Given the description of an element on the screen output the (x, y) to click on. 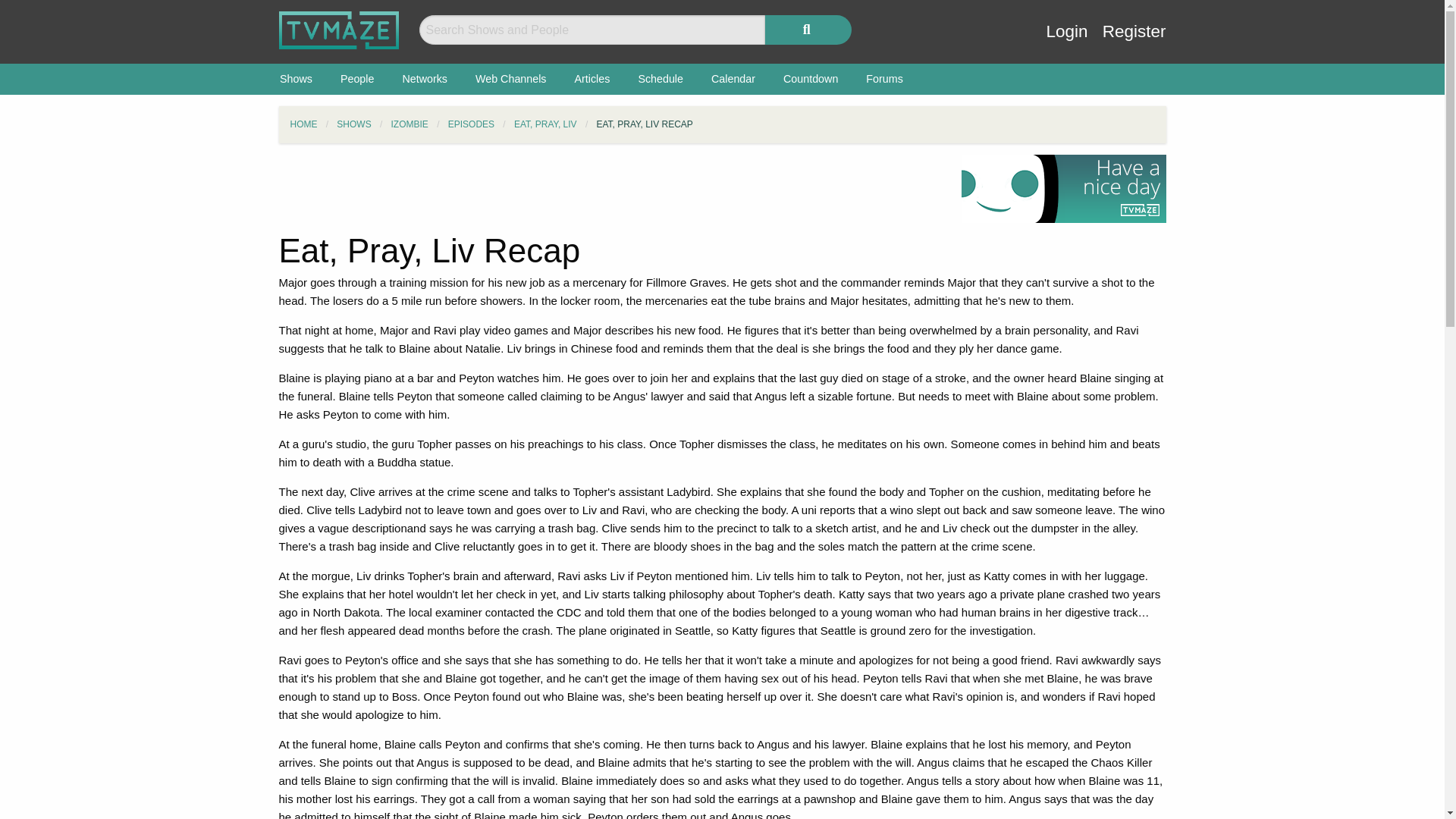
People (357, 79)
EPISODES (471, 123)
Register (1134, 42)
Articles (592, 79)
HOME (303, 123)
Networks (425, 79)
EAT, PRAY, LIV (544, 123)
Countdown (810, 79)
Schedule (660, 79)
Shows (295, 79)
Calendar (732, 79)
Forums (884, 79)
Web Channels (511, 79)
SHOWS (353, 123)
